Given the description of an element on the screen output the (x, y) to click on. 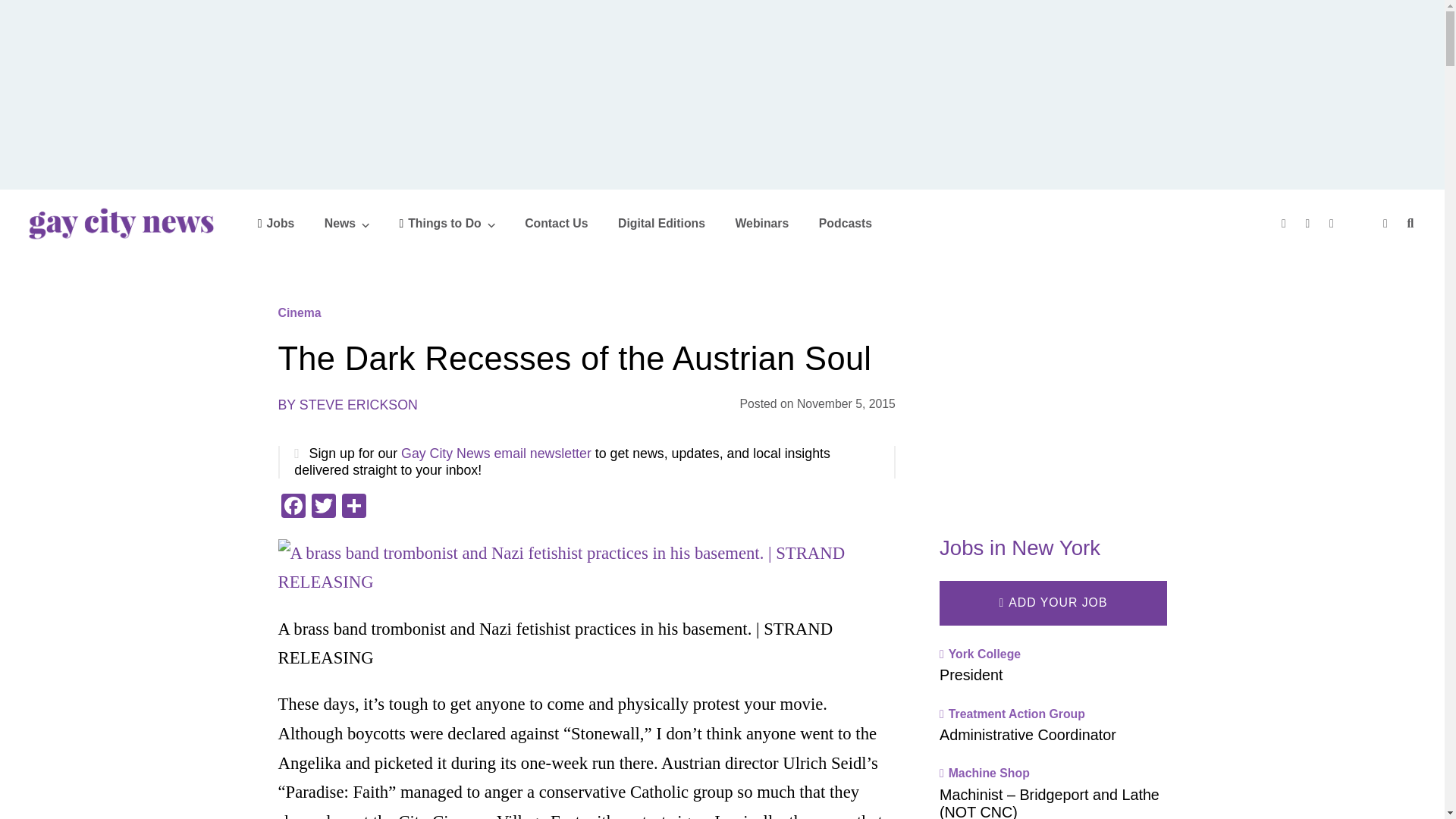
News (346, 223)
Things to Do (446, 223)
Twitter (322, 507)
Digital Editions (660, 223)
Contact Us (556, 223)
Facebook (292, 507)
Jobs (276, 223)
Podcasts (845, 223)
Webinars (762, 223)
